Given the description of an element on the screen output the (x, y) to click on. 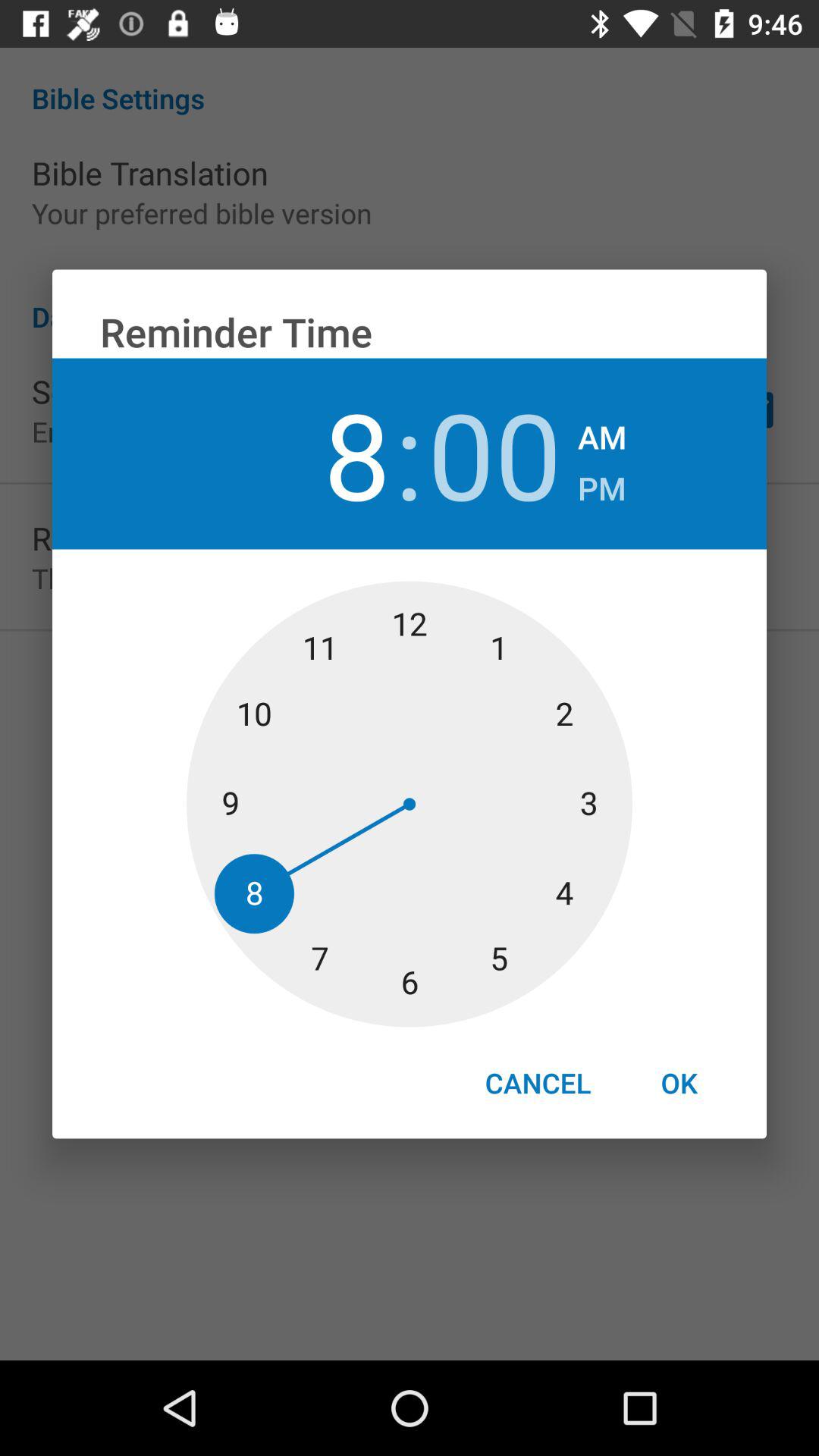
turn on the icon below am (601, 483)
